Given the description of an element on the screen output the (x, y) to click on. 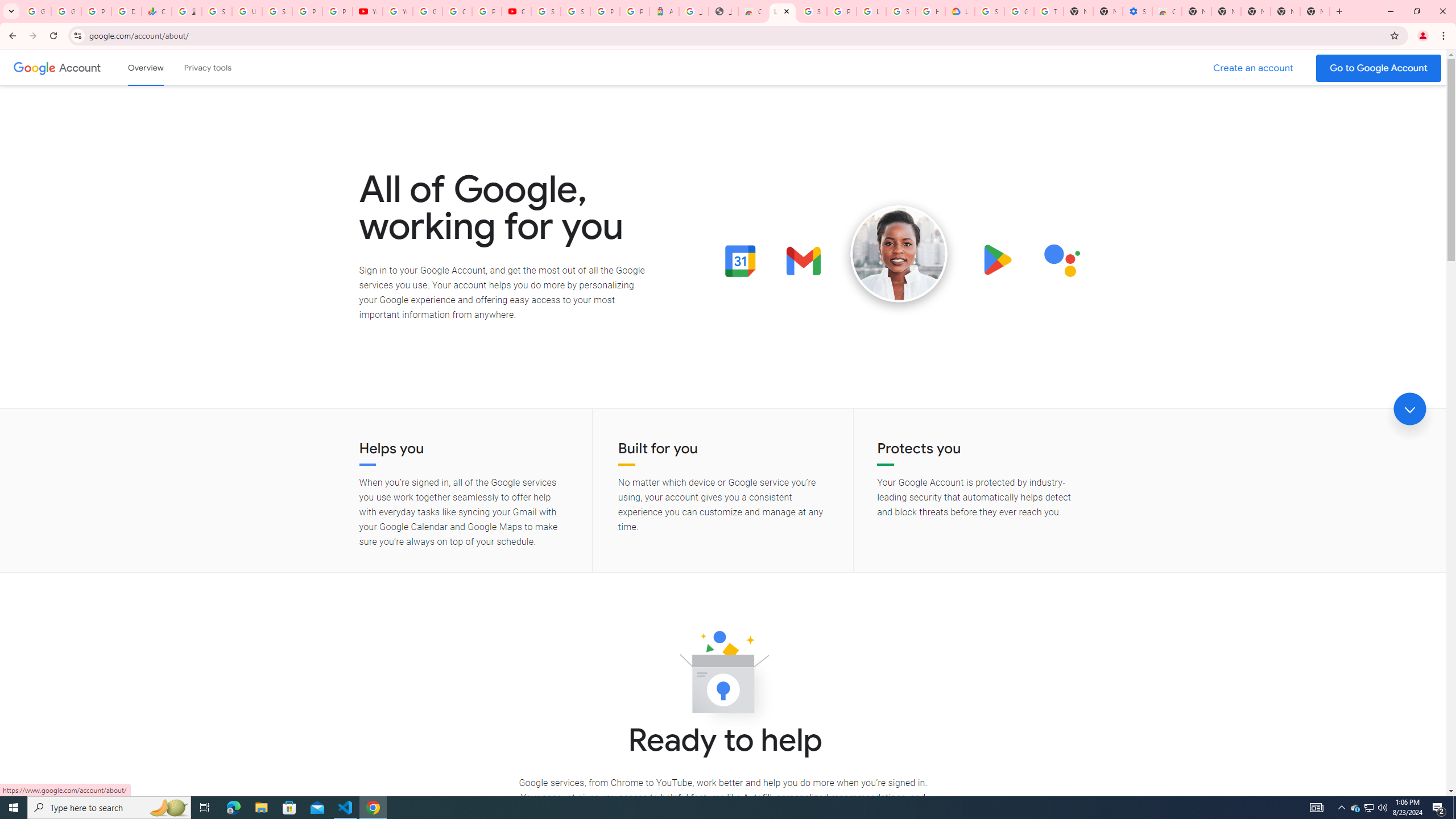
Minimize (1390, 11)
Sign in - Google Accounts (216, 11)
Sign in - Google Accounts (277, 11)
Search tabs (10, 11)
Google Account overview (145, 67)
Jump link (1409, 408)
Sign in - Google Accounts (575, 11)
YouTube (367, 11)
View site information (77, 35)
Currencies - Google Finance (156, 11)
Turn cookies on or off - Computer - Google Account Help (1048, 11)
Content Creator Programs & Opportunities - YouTube Creators (515, 11)
Sign in - Google Accounts (545, 11)
